Given the description of an element on the screen output the (x, y) to click on. 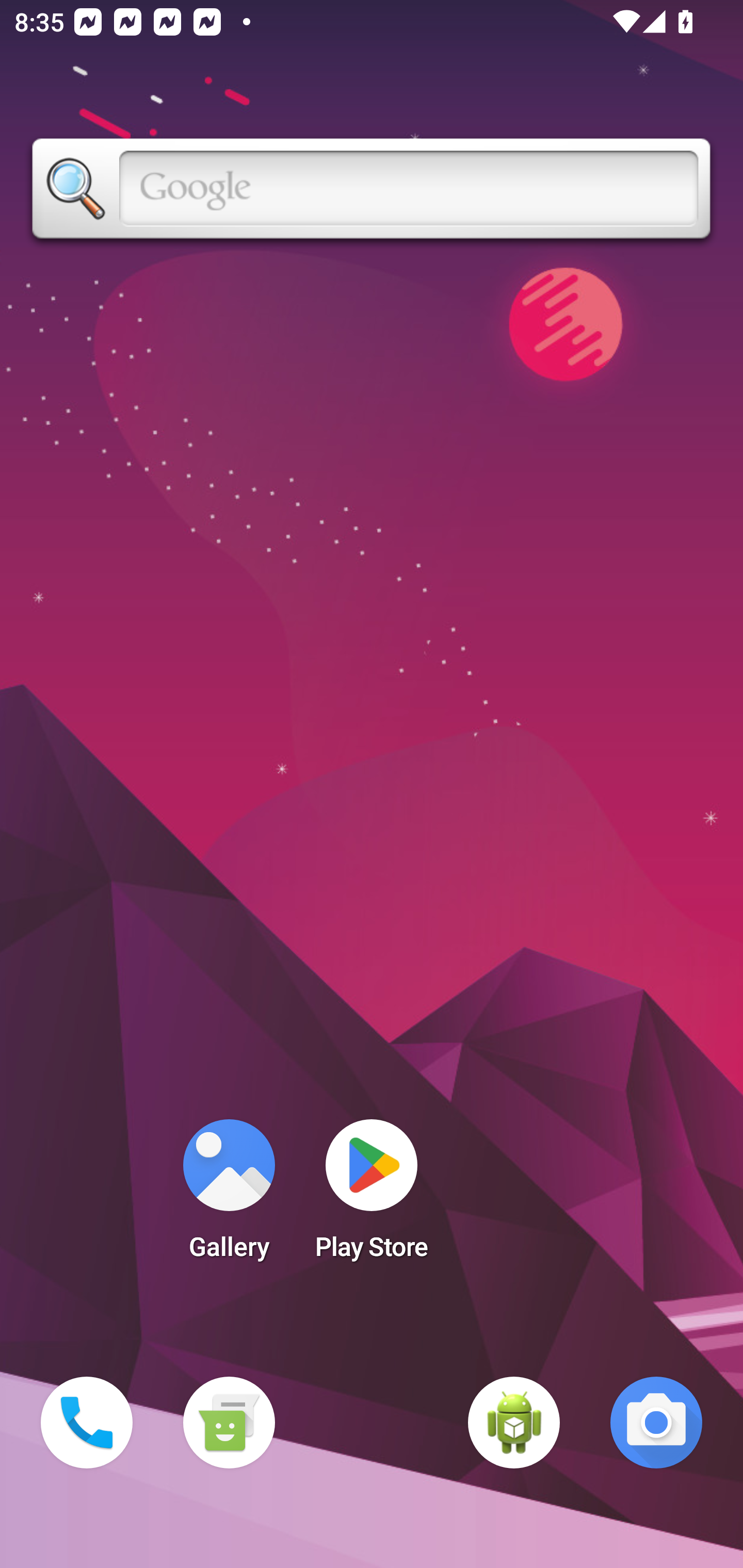
Gallery (228, 1195)
Play Store (371, 1195)
Phone (86, 1422)
Messaging (228, 1422)
WebView Browser Tester (513, 1422)
Camera (656, 1422)
